Given the description of an element on the screen output the (x, y) to click on. 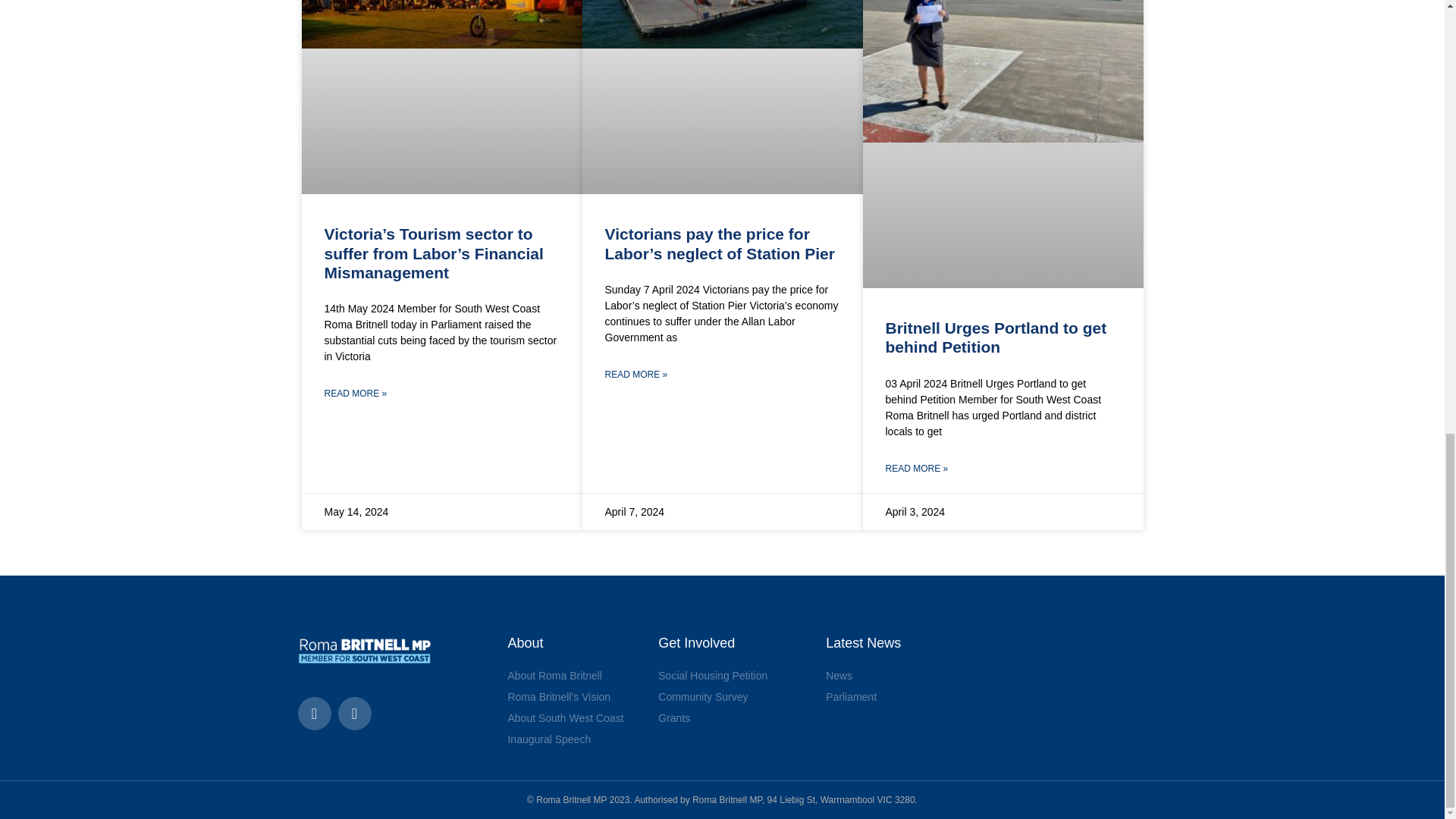
About Roma Britnell (574, 675)
Britnell Urges Portland to get behind Petition (995, 337)
